Given the description of an element on the screen output the (x, y) to click on. 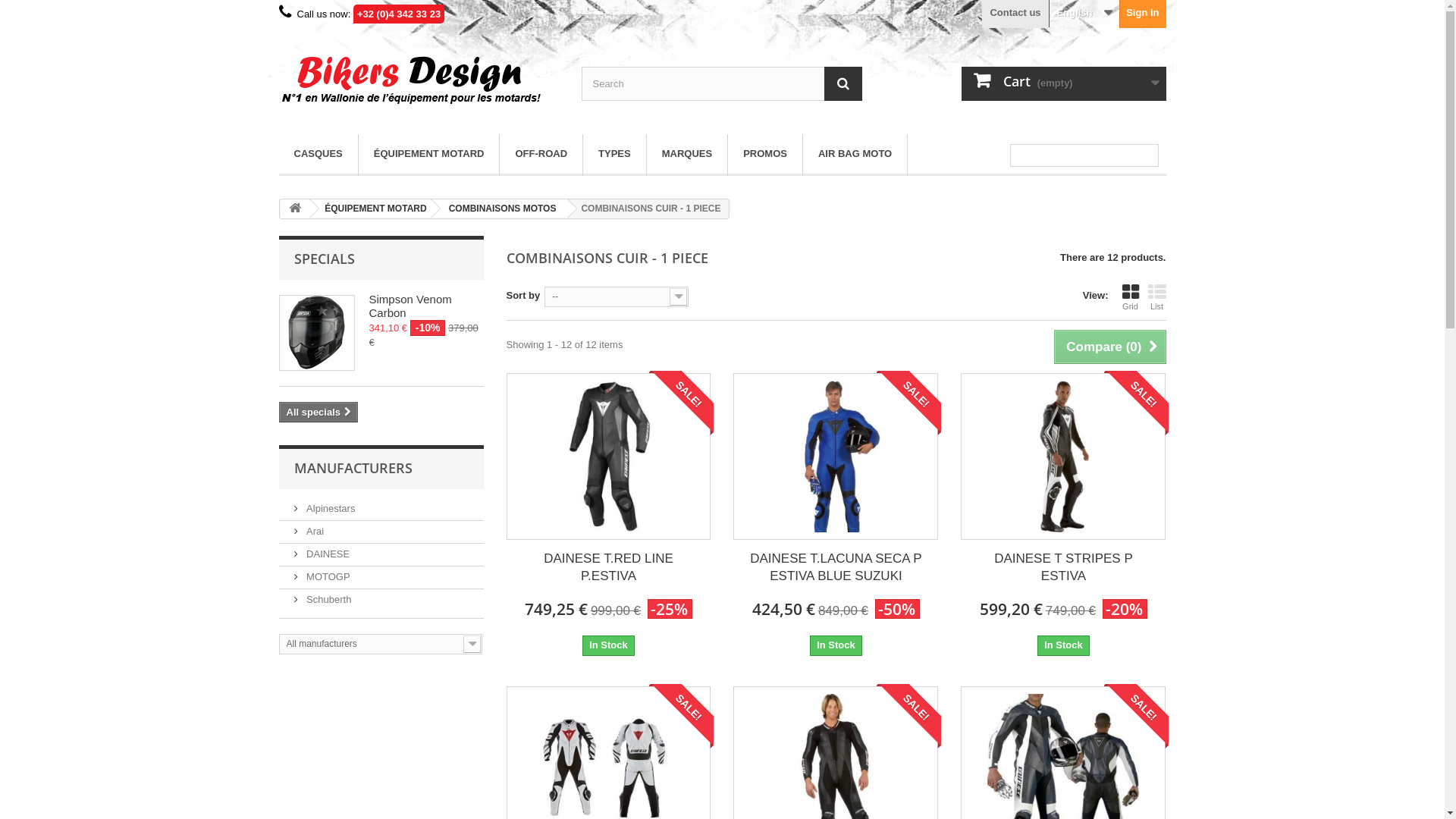
SALE! Element type: text (908, 402)
SALE! Element type: text (681, 402)
DAINESE T.LACUNA SECA P ESTIVA BLUE SUZUKI Element type: hover (835, 456)
DAINESE T STRIPES P ESTIVA Element type: hover (1063, 456)
MARQUES Element type: text (686, 154)
Return to Home Element type: hover (294, 208)
Arai Element type: text (309, 530)
CASQUES Element type: text (318, 154)
DAINESE T.RED LINE P.ESTIVA Element type: text (608, 566)
DAINESE T STRIPES P ESTIVA Element type: text (1063, 566)
DAINESE Element type: text (322, 553)
DAINESE T.RED LINE P.ESTIVA Element type: hover (608, 456)
List Element type: text (1157, 296)
COMBINAISONS MOTOS Element type: text (499, 208)
Alpinestars Element type: text (324, 508)
All specials Element type: text (318, 411)
DAINESE T STRIPES P ESTIVA Element type: hover (1062, 456)
Schuberth Element type: text (322, 599)
Contact us Element type: text (1015, 14)
DAINESE T.LACUNA SECA P ESTIVA BLUE SUZUKI Element type: text (835, 566)
SALE! Element type: text (1136, 402)
Simpson Venom Carbon Element type: text (409, 305)
MOTOGP Element type: text (322, 576)
DAINESE T.RED LINE P.ESTIVA Element type: hover (608, 456)
SALE! Element type: text (1136, 716)
PROMOS Element type: text (765, 154)
Simpson Venom Carbon  Element type: hover (316, 332)
SALE! Element type: text (681, 716)
DAINESE T.LACUNA SECA P ESTIVA BLUE SUZUKI Element type: hover (835, 456)
Cart (empty) Element type: text (1063, 83)
TYPES Element type: text (614, 154)
Compare (0) Element type: text (1109, 346)
Bikers Design - Official Web Shop Element type: hover (419, 77)
MANUFACTURERS Element type: text (353, 467)
SPECIALS Element type: text (324, 258)
AIR BAG MOTO Element type: text (854, 154)
SALE! Element type: text (908, 716)
OFF-ROAD Element type: text (540, 154)
Grid Element type: text (1130, 296)
Sign in Element type: text (1142, 14)
